Given the description of an element on the screen output the (x, y) to click on. 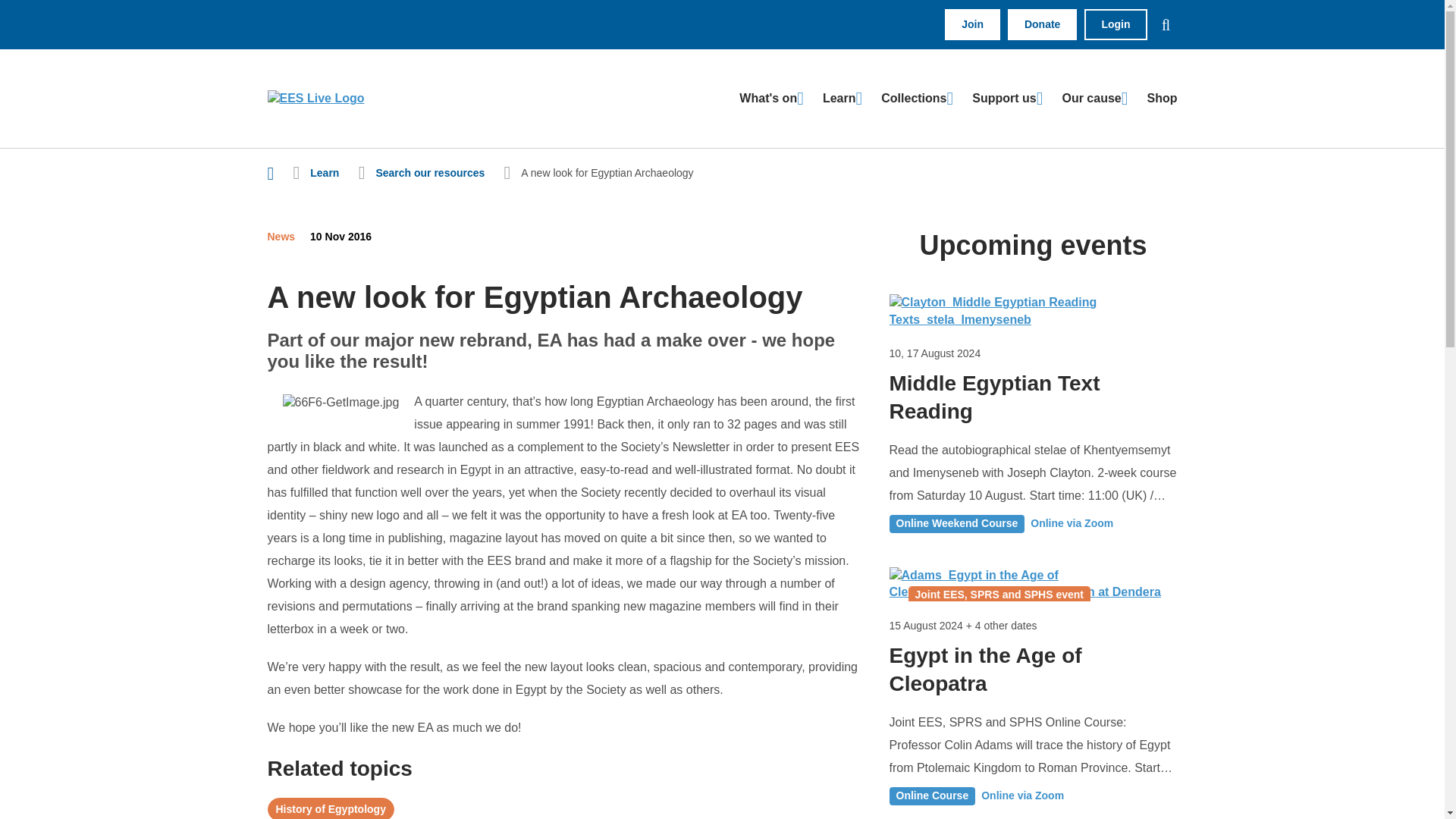
Donate (1042, 24)
Learn (841, 98)
What's on (771, 98)
Join (972, 24)
Donate (1042, 24)
Login (1115, 24)
Skip to content (307, 164)
Collections (916, 98)
Support us (1007, 98)
Our cause (1093, 98)
